Given the description of an element on the screen output the (x, y) to click on. 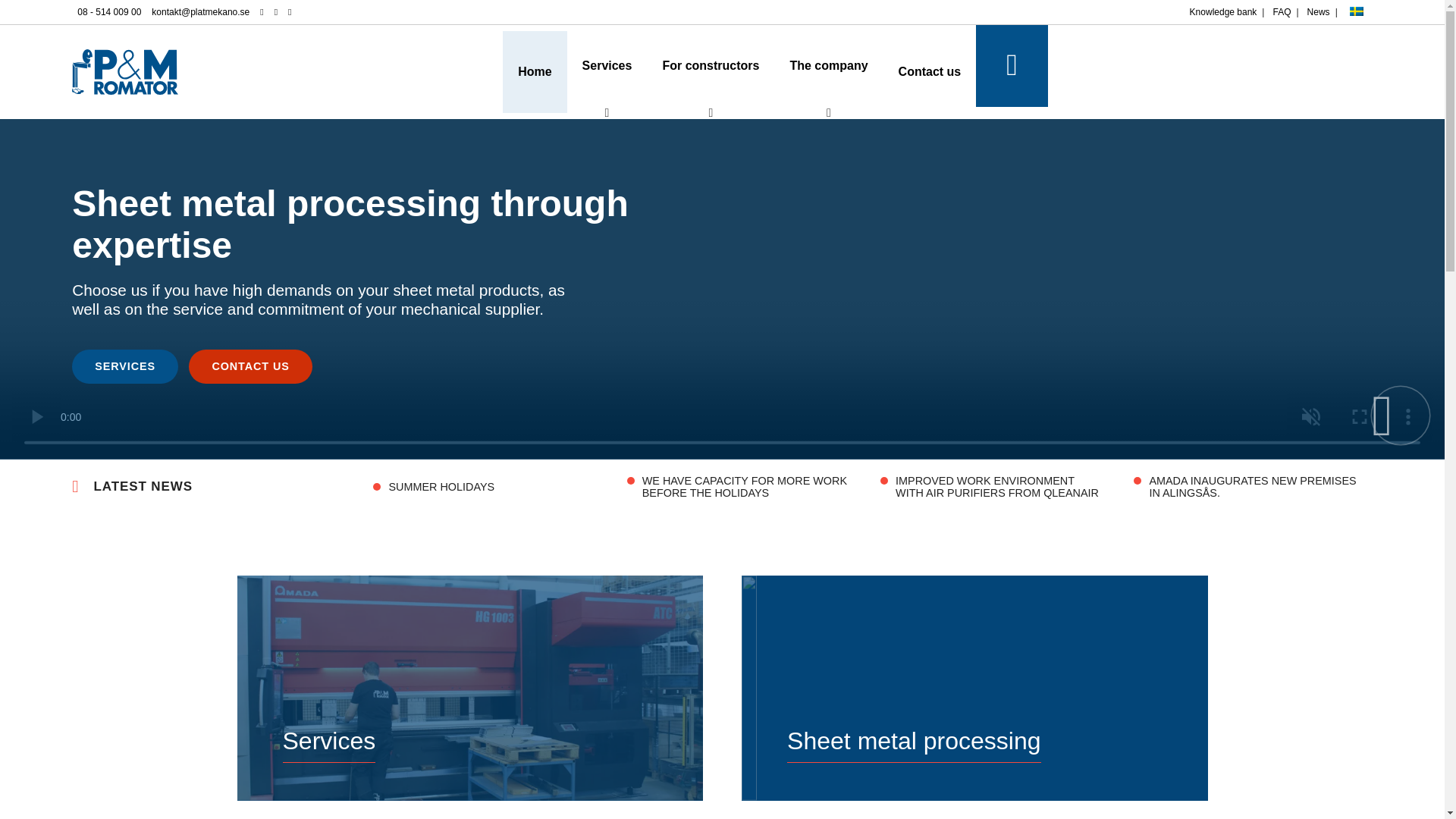
Knowledge bank (1223, 12)
Services (607, 66)
News (1318, 12)
For constructors (710, 66)
08 - 514 009 00 (109, 12)
FAQ (1280, 12)
The company (828, 66)
Swedish (1355, 10)
